Given the description of an element on the screen output the (x, y) to click on. 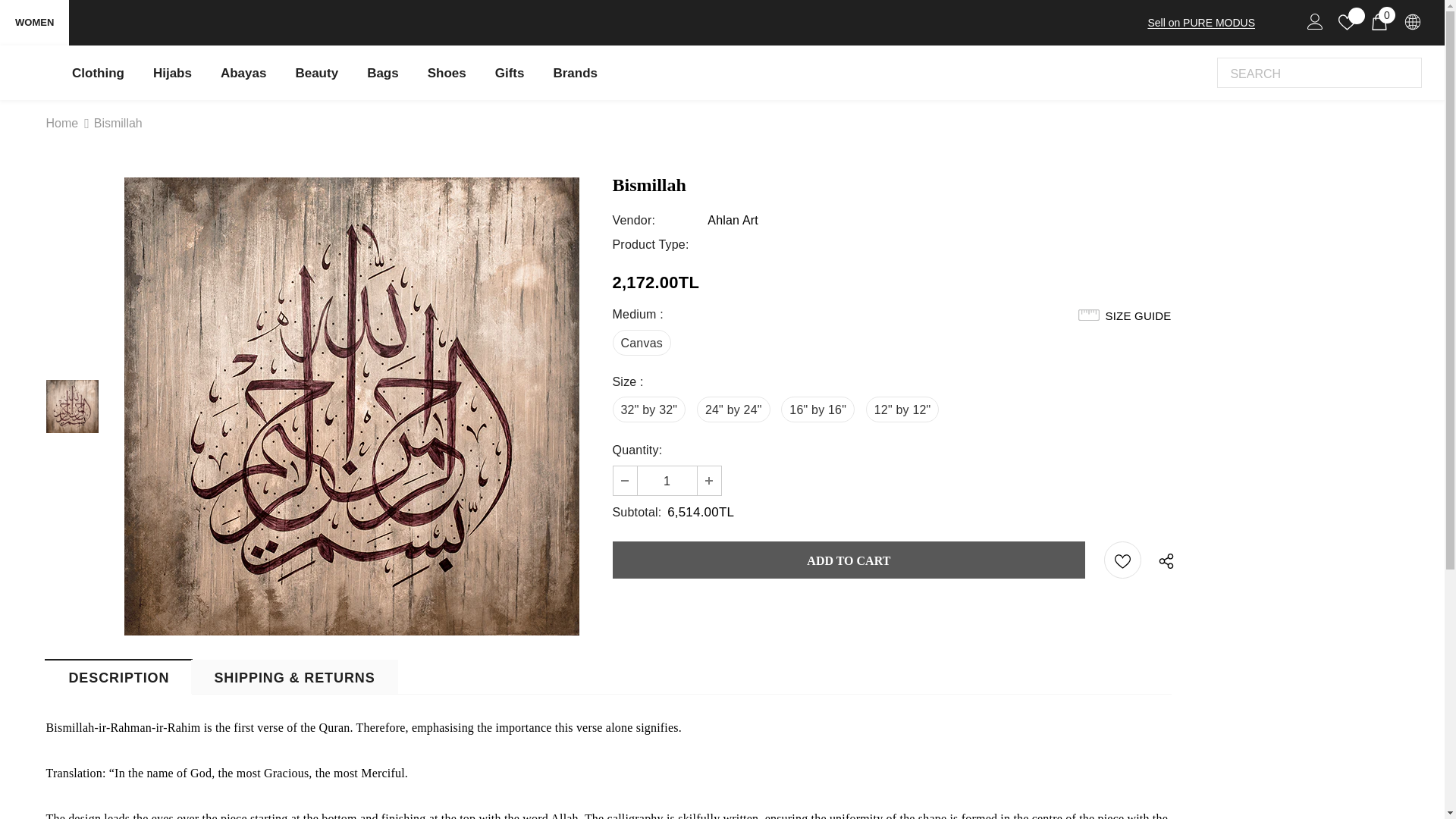
My Wish Lists (1346, 23)
Hijabs (172, 72)
user (1315, 21)
Abayas (243, 72)
WOMEN (34, 22)
Gifts (509, 72)
Brands (574, 72)
Sell on PURE MODUS (1201, 22)
Clothing (98, 72)
Add to cart (849, 559)
